Given the description of an element on the screen output the (x, y) to click on. 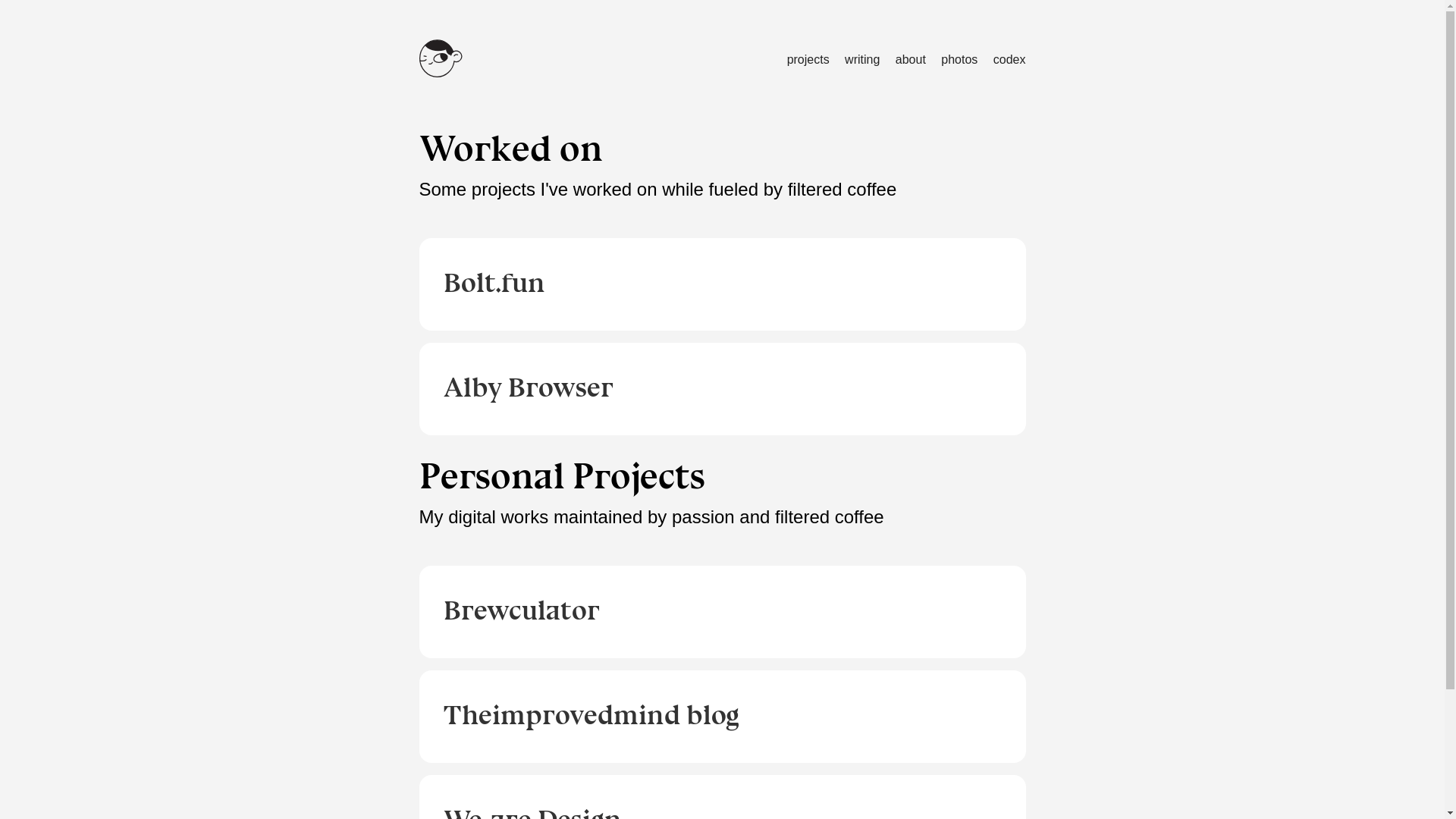
Brewculator Element type: text (721, 611)
about Element type: text (910, 59)
Alby Browser Element type: text (721, 388)
Bolt.fun Element type: text (721, 284)
photos Element type: text (959, 59)
writing Element type: text (861, 59)
projects Element type: text (808, 59)
codex Element type: text (1009, 59)
Theimprovedmind blog Element type: text (721, 716)
